Given the description of an element on the screen output the (x, y) to click on. 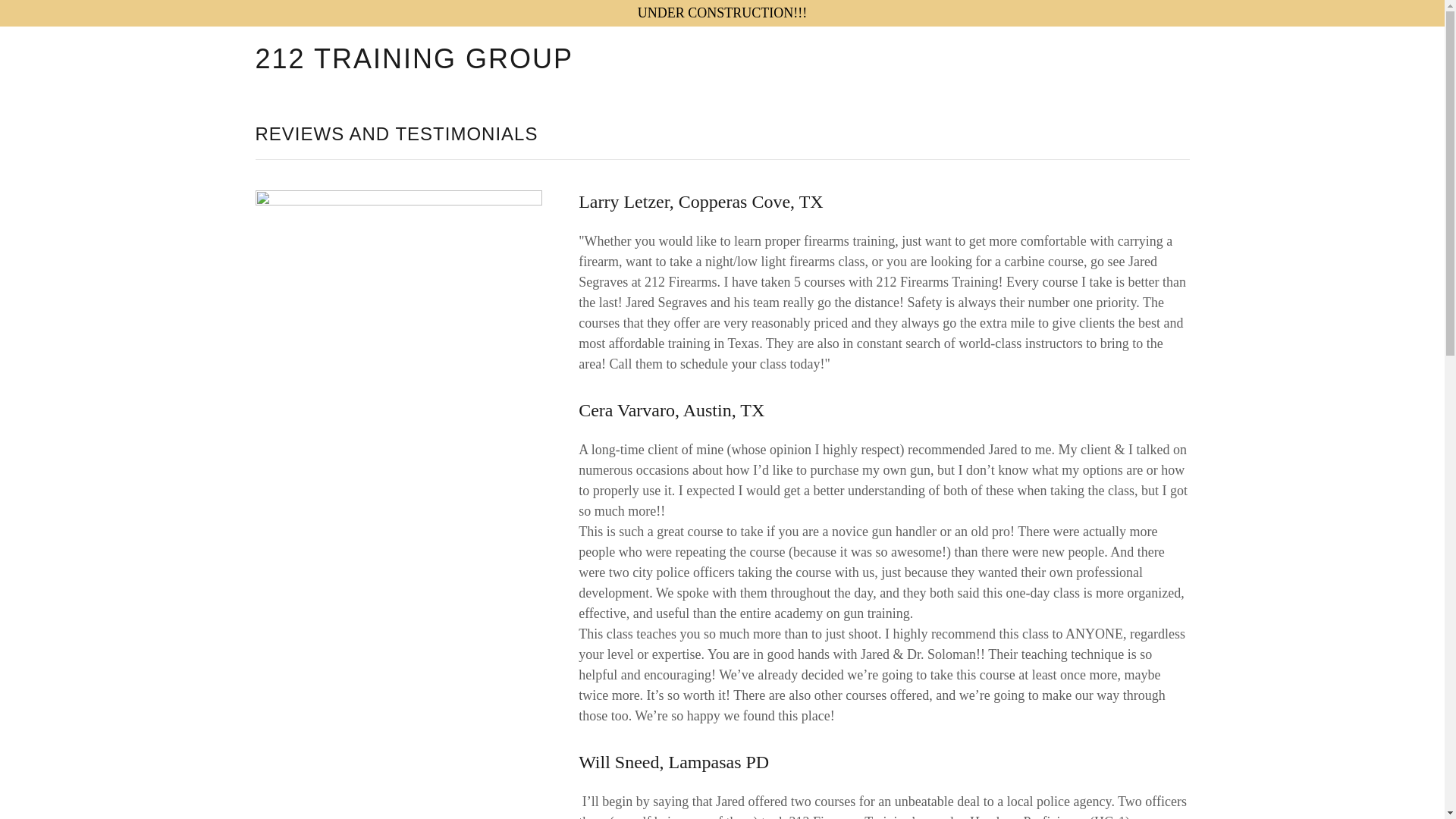
212 TRAINING GROUP Element type: text (417, 63)
